Given the description of an element on the screen output the (x, y) to click on. 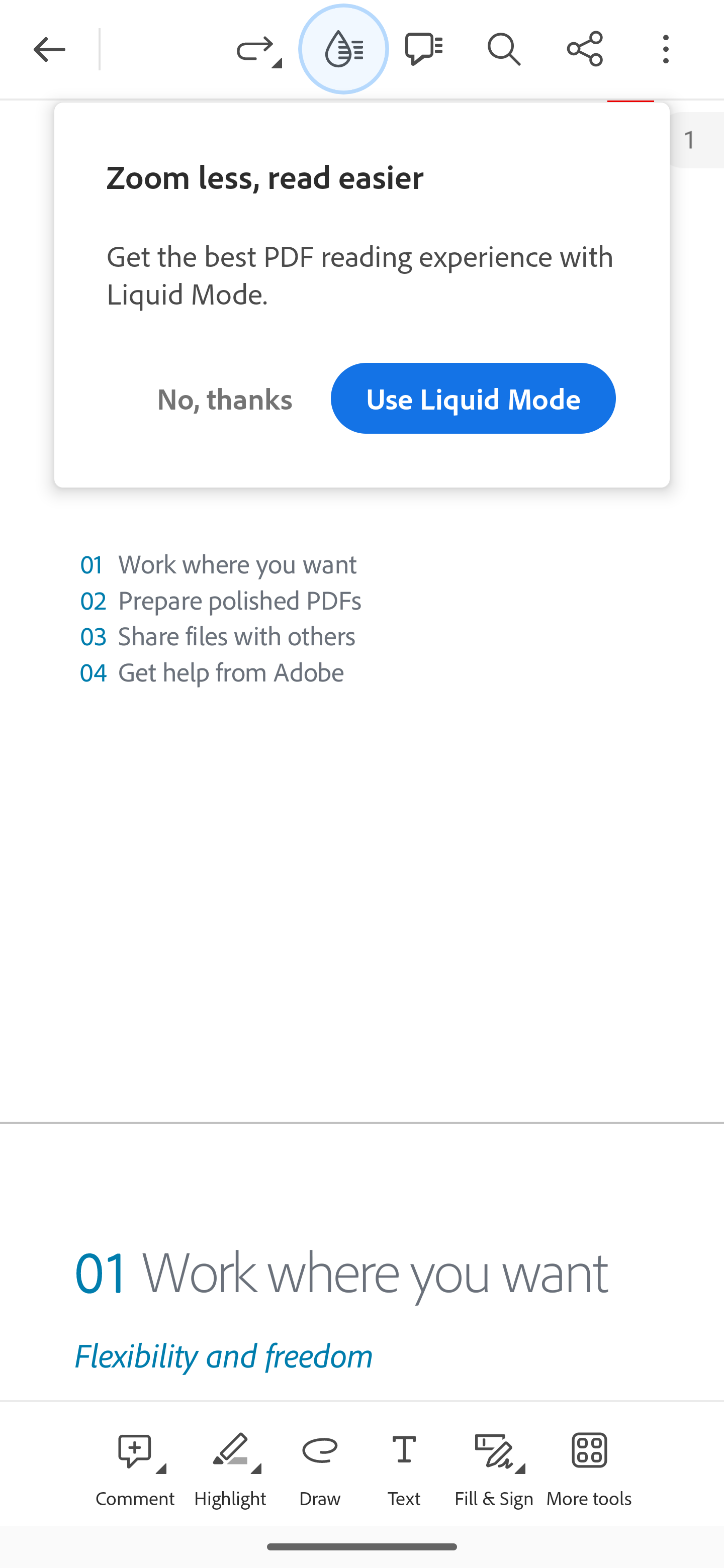
Back (49, 49)
Redo Edit(s) (259, 48)
Turn on Liquid Mode (343, 48)
Find keyword in document (503, 48)
Share this document with others (584, 48)
More options (665, 48)
Comments (423, 48)
Comment (134, 1463)
Highlight (229, 1463)
Draw (319, 1463)
Text (404, 1463)
Fill & Sign (493, 1463)
More tools (588, 1463)
